Given the description of an element on the screen output the (x, y) to click on. 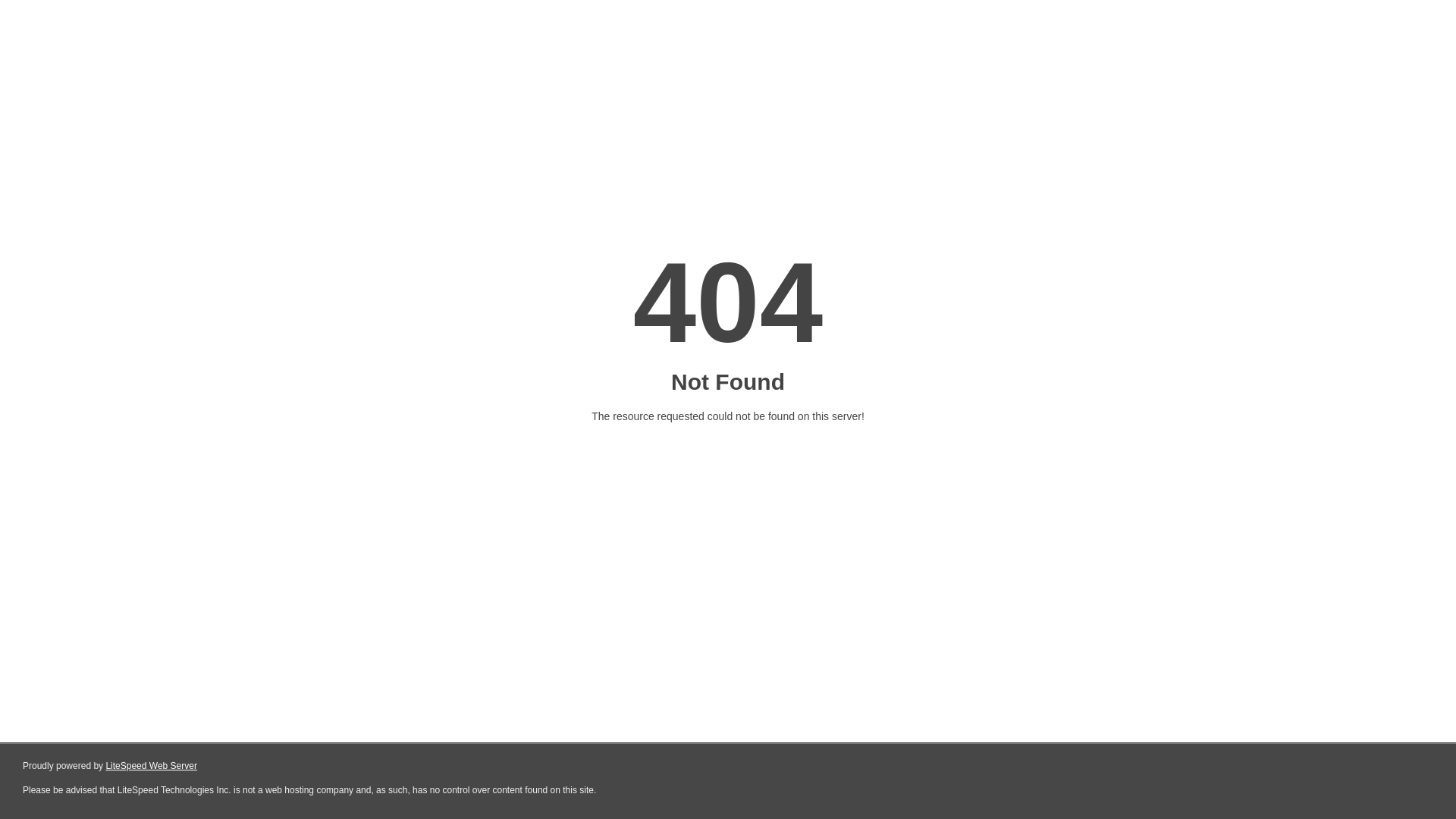
LiteSpeed Web Server Element type: text (151, 765)
